Given the description of an element on the screen output the (x, y) to click on. 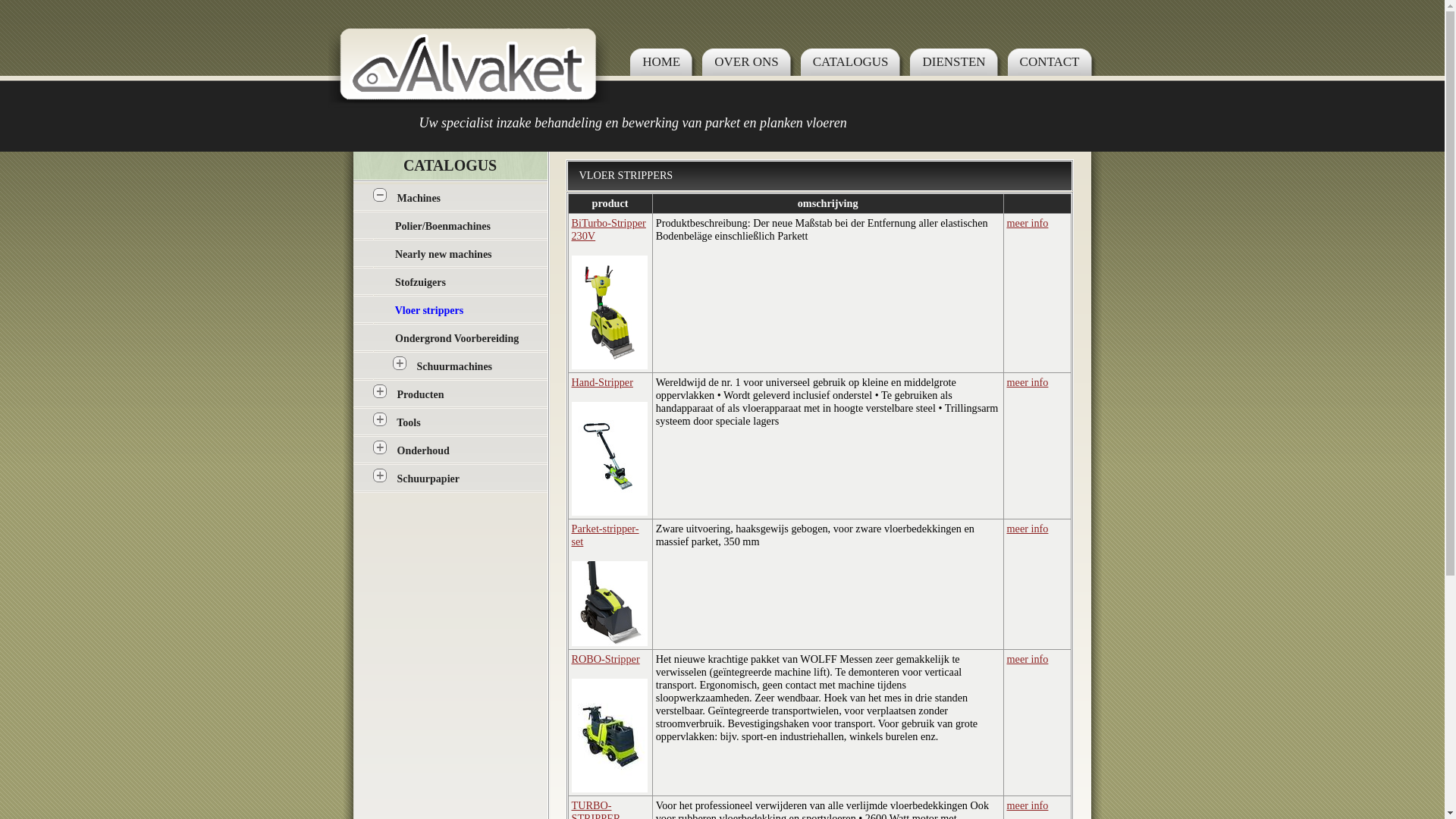
meer info Element type: text (1027, 222)
meer info Element type: text (1027, 805)
Tools Element type: text (408, 422)
meer info Element type: text (1027, 382)
ROBO-Stripper Element type: text (605, 658)
Machines Element type: text (419, 197)
BiTurbo-Stripper 230V Element type: text (608, 228)
Hand-Stripper Element type: text (602, 382)
meer info Element type: text (1027, 658)
Polier/Boenmachines Element type: text (442, 226)
Producten Element type: text (420, 394)
Parket-stripper-set Element type: text (605, 534)
Vloer strippers Element type: text (429, 310)
meer info Element type: text (1027, 528)
Schuurmachines Element type: text (454, 366)
Onderhoud Element type: text (423, 450)
Stofzuigers Element type: text (420, 282)
Ondergrond Voorbereiding Element type: text (456, 338)
Nearly new machines Element type: text (443, 254)
Schuurpapier Element type: text (428, 478)
